Given the description of an element on the screen output the (x, y) to click on. 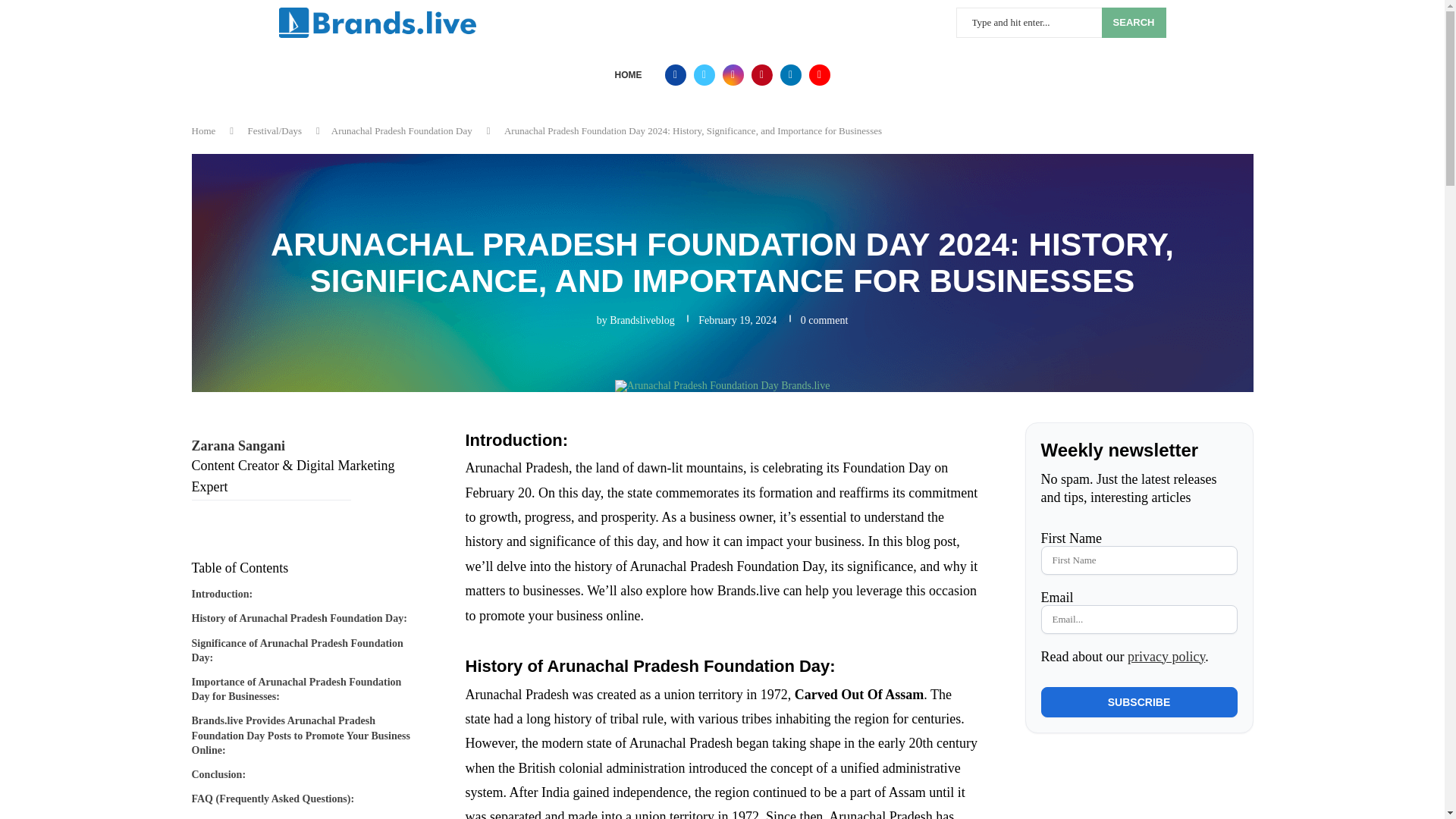
Brandsliveblog (642, 319)
Significance of Arunachal Pradesh Foundation Day: (304, 646)
History of Arunachal Pradesh Foundation Day: (298, 613)
Introduction: (220, 589)
Arunachal Pradesh Foundation Day (401, 130)
Home (202, 130)
SEARCH (1134, 22)
Subscribe (1138, 702)
